Given the description of an element on the screen output the (x, y) to click on. 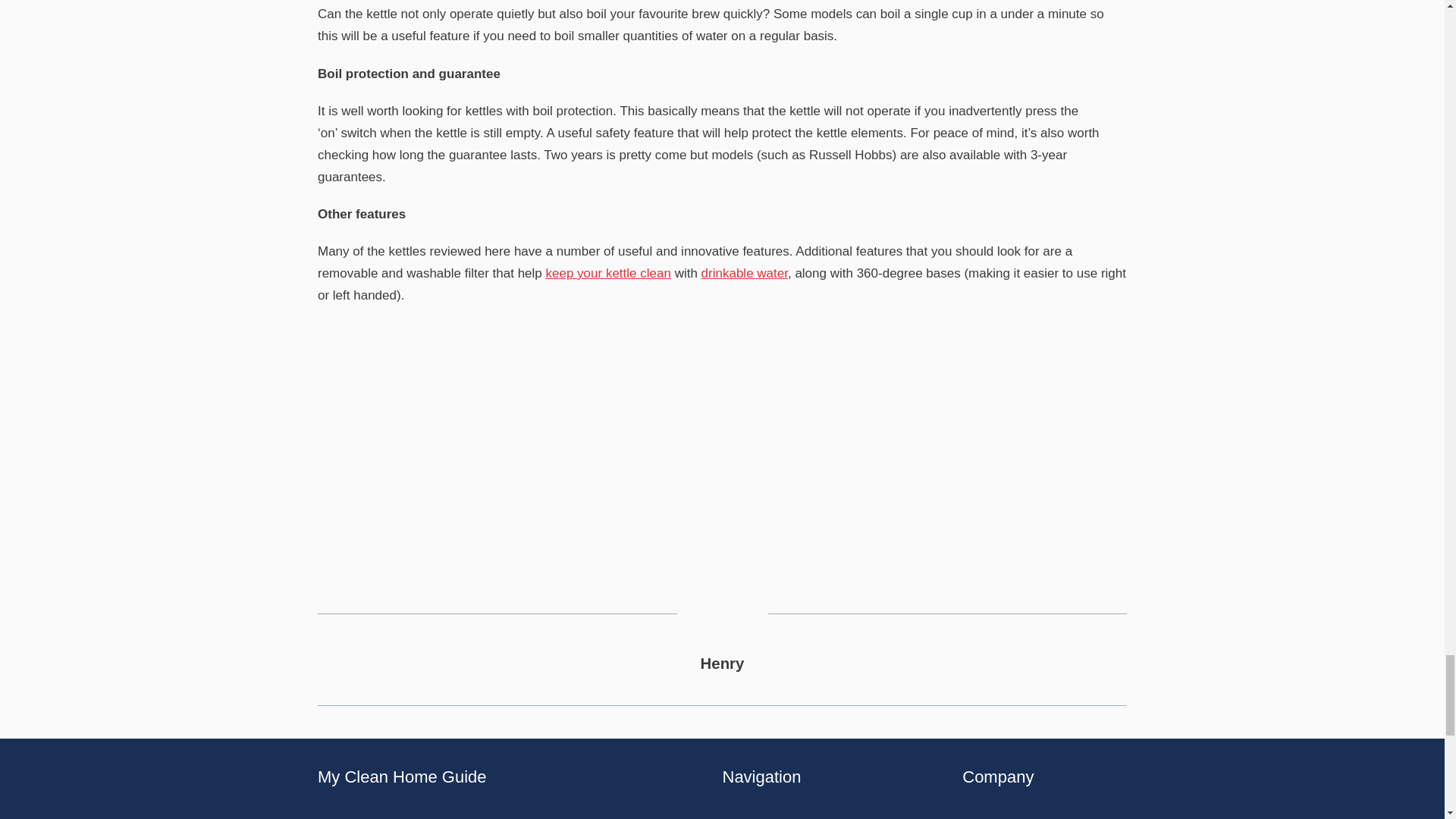
Product Reviews (765, 817)
keep your kettle clean (608, 273)
drinkable water (744, 273)
